Given the description of an element on the screen output the (x, y) to click on. 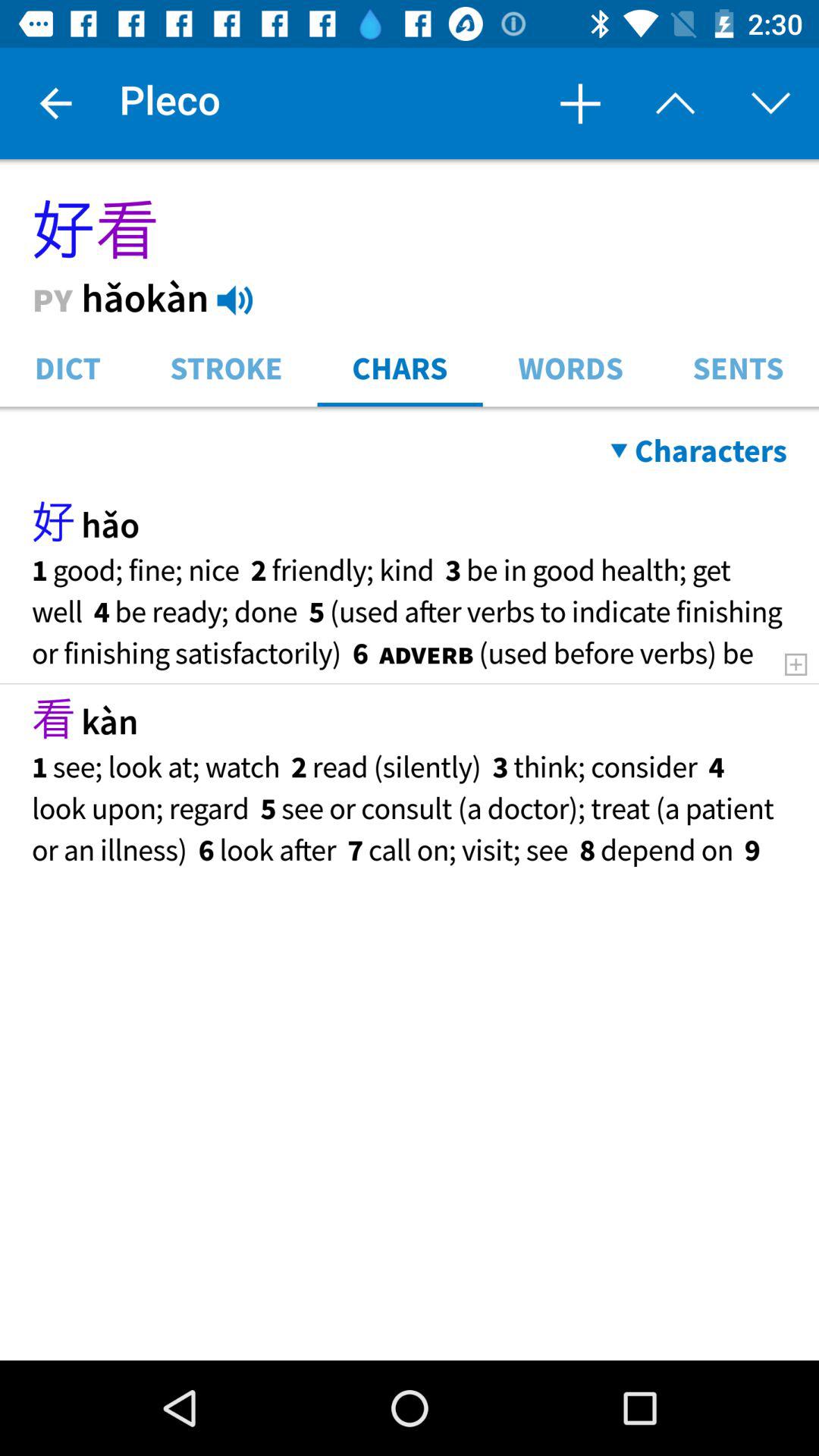
click dict item (67, 366)
